Given the description of an element on the screen output the (x, y) to click on. 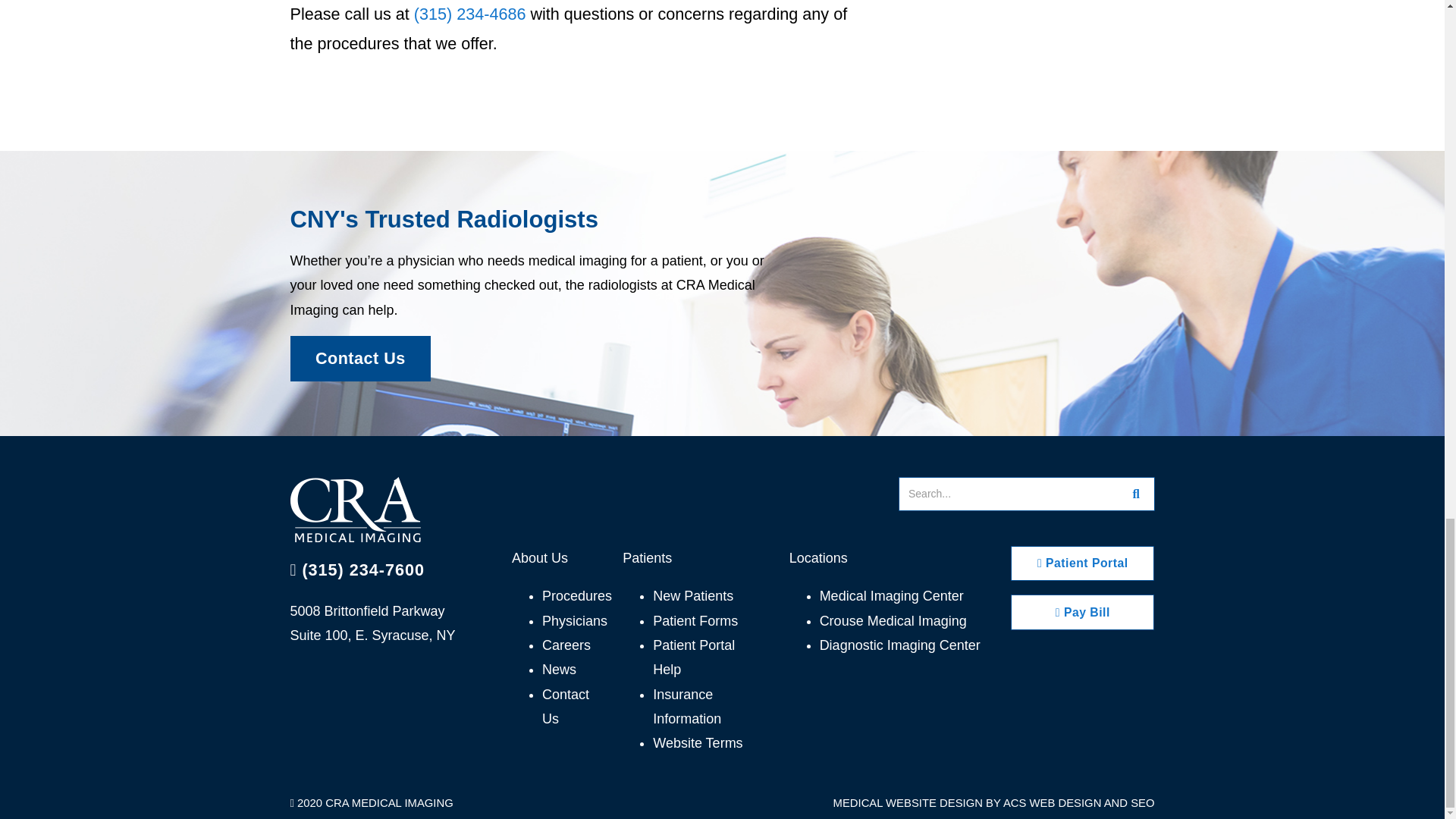
Patient Forms (695, 620)
Procedures (576, 595)
Physicians (574, 620)
Contact (565, 706)
New Patients (692, 595)
Careers (566, 645)
News (558, 669)
